Given the description of an element on the screen output the (x, y) to click on. 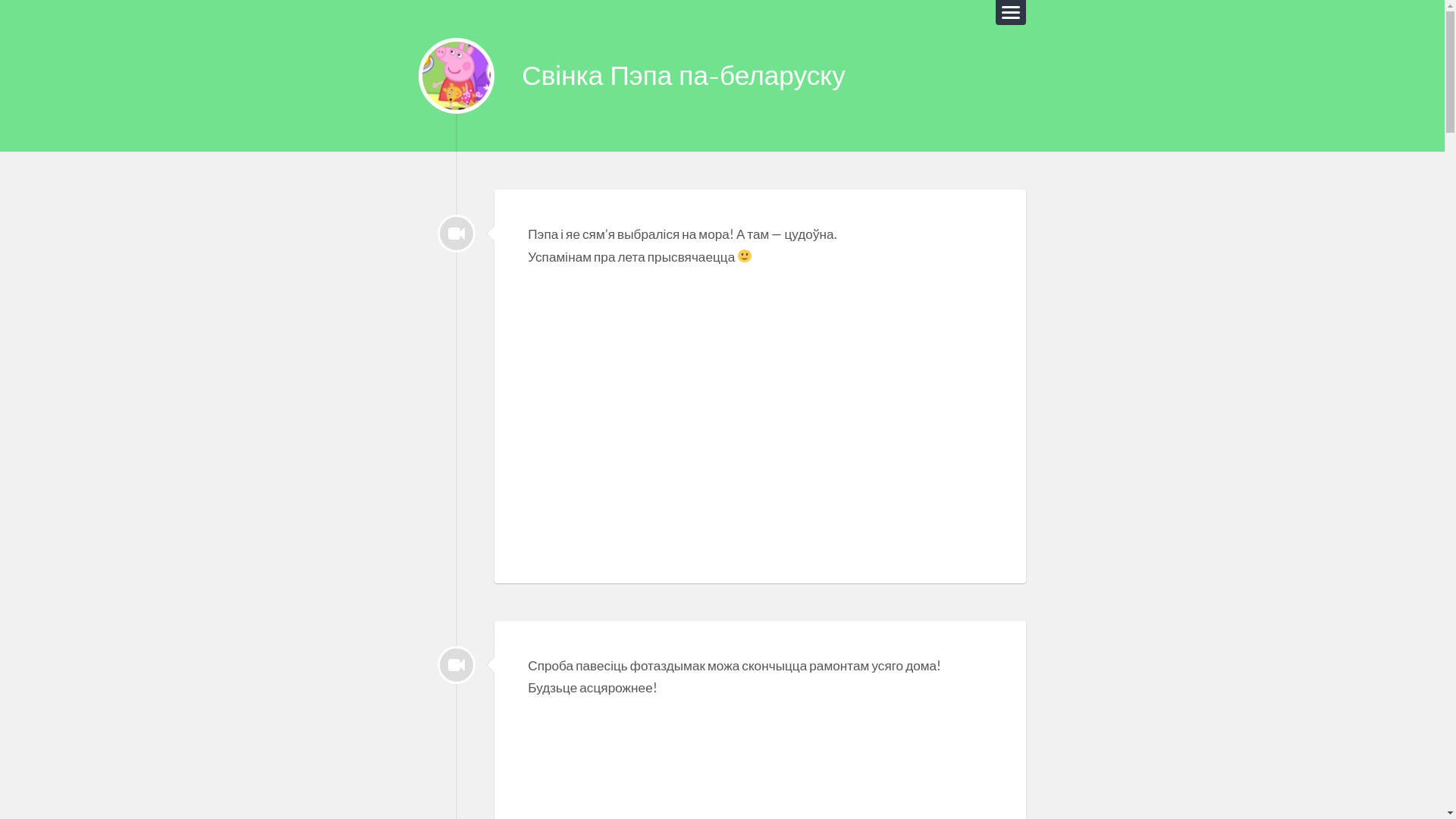
Search Element type: text (21, 7)
